Given the description of an element on the screen output the (x, y) to click on. 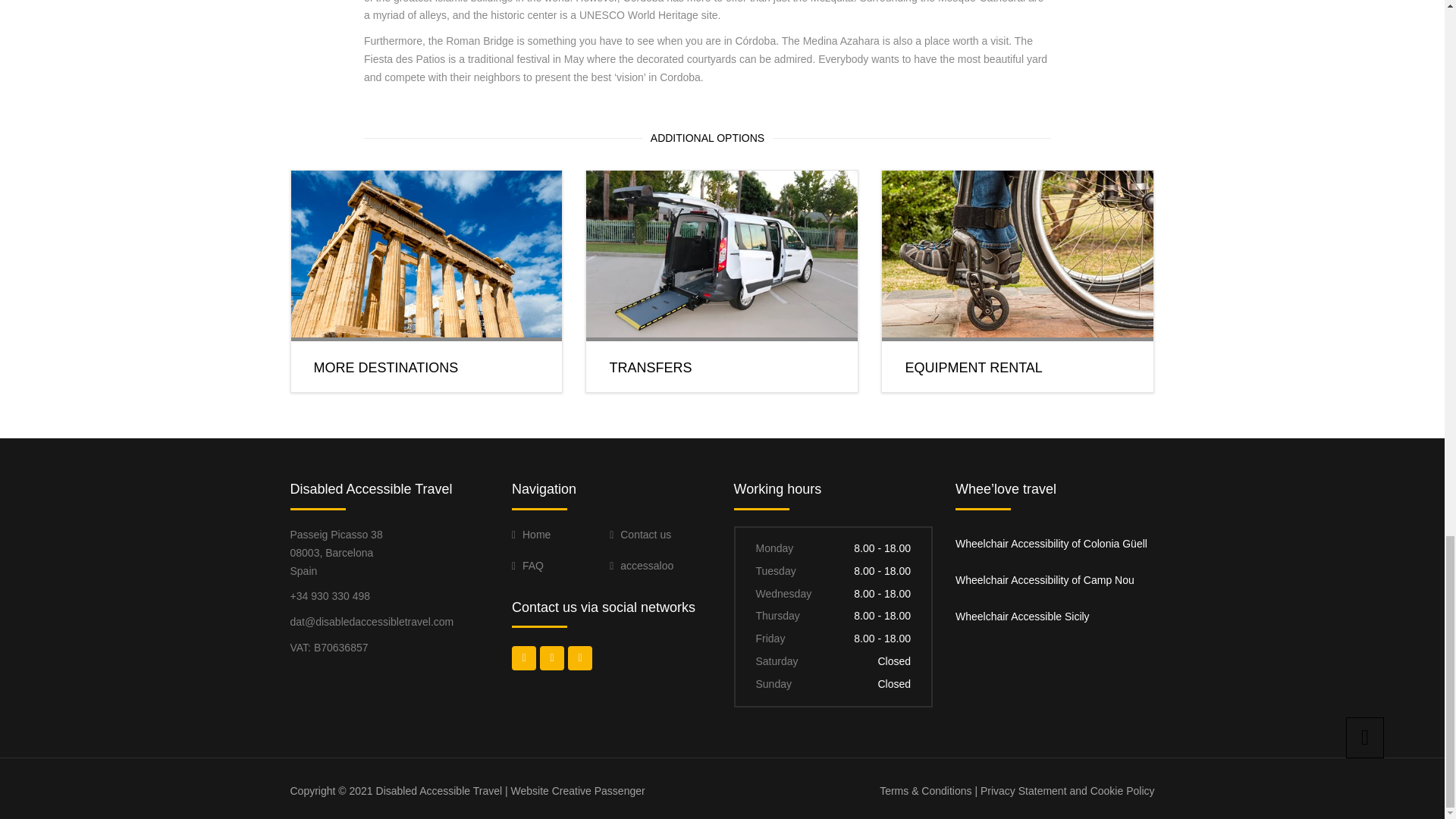
READ MORE (936, 407)
READ MORE (346, 407)
READ MORE (640, 407)
